Given the description of an element on the screen output the (x, y) to click on. 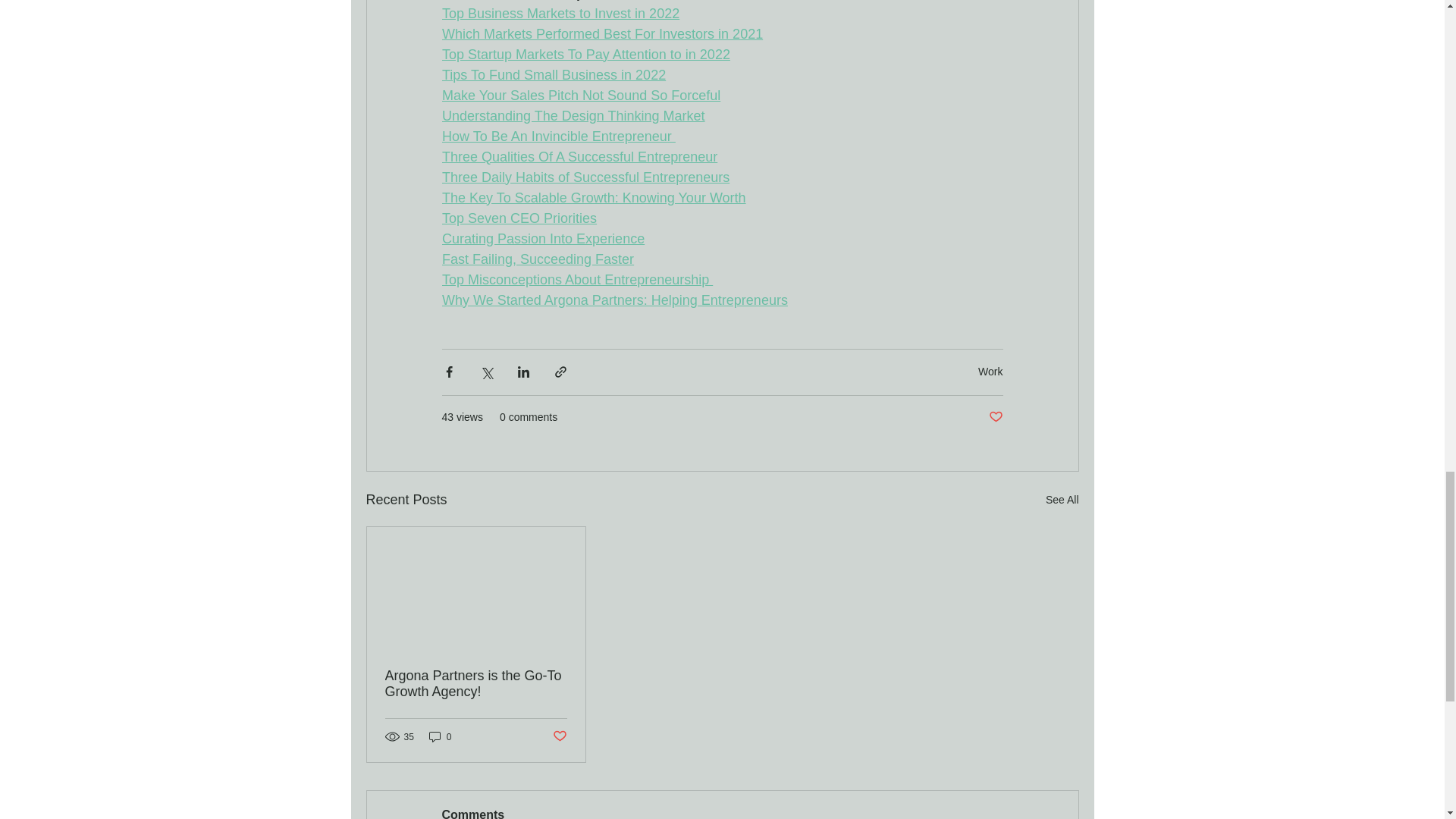
Make Your Sales Pitch Not Sound So Forceful (580, 95)
Understanding The Design Thinking Market (572, 115)
Top Startup Markets To Pay Attention to in 2022 (585, 54)
Top Business Markets to Invest in 2022 (559, 13)
Tips To Fund Small Business in 2022 (553, 74)
Which Markets Performed Best For Investors in 2021 (601, 33)
